Given the description of an element on the screen output the (x, y) to click on. 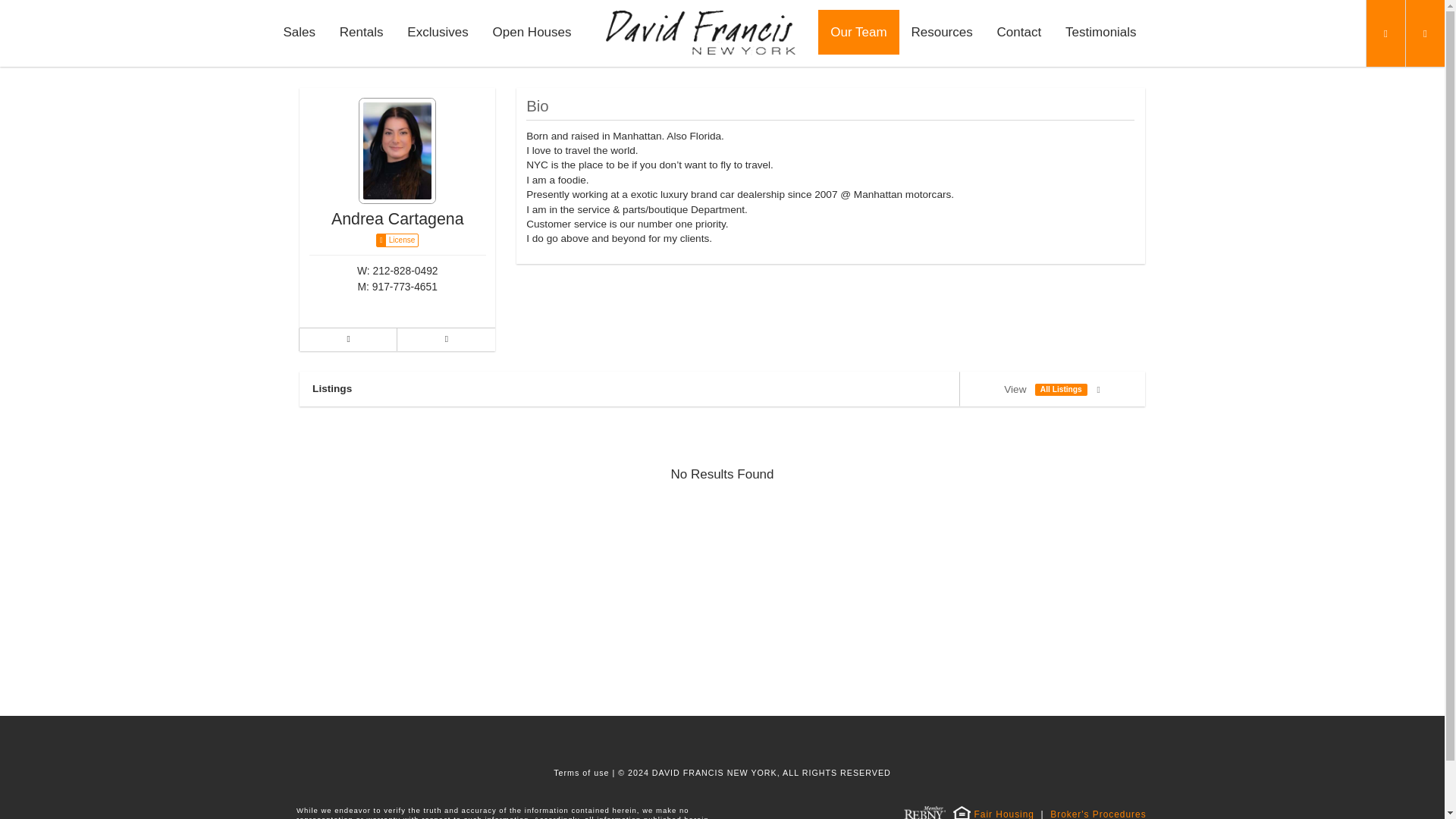
Our Team (858, 32)
Testimonials (1100, 32)
Open Houses (531, 32)
Sales (298, 32)
Contact (1018, 32)
Rentals (361, 32)
212-828-0492 (405, 270)
Exclusives (437, 32)
917-773-4651 (405, 286)
View   All Listings (1051, 388)
Resources (942, 32)
